Given the description of an element on the screen output the (x, y) to click on. 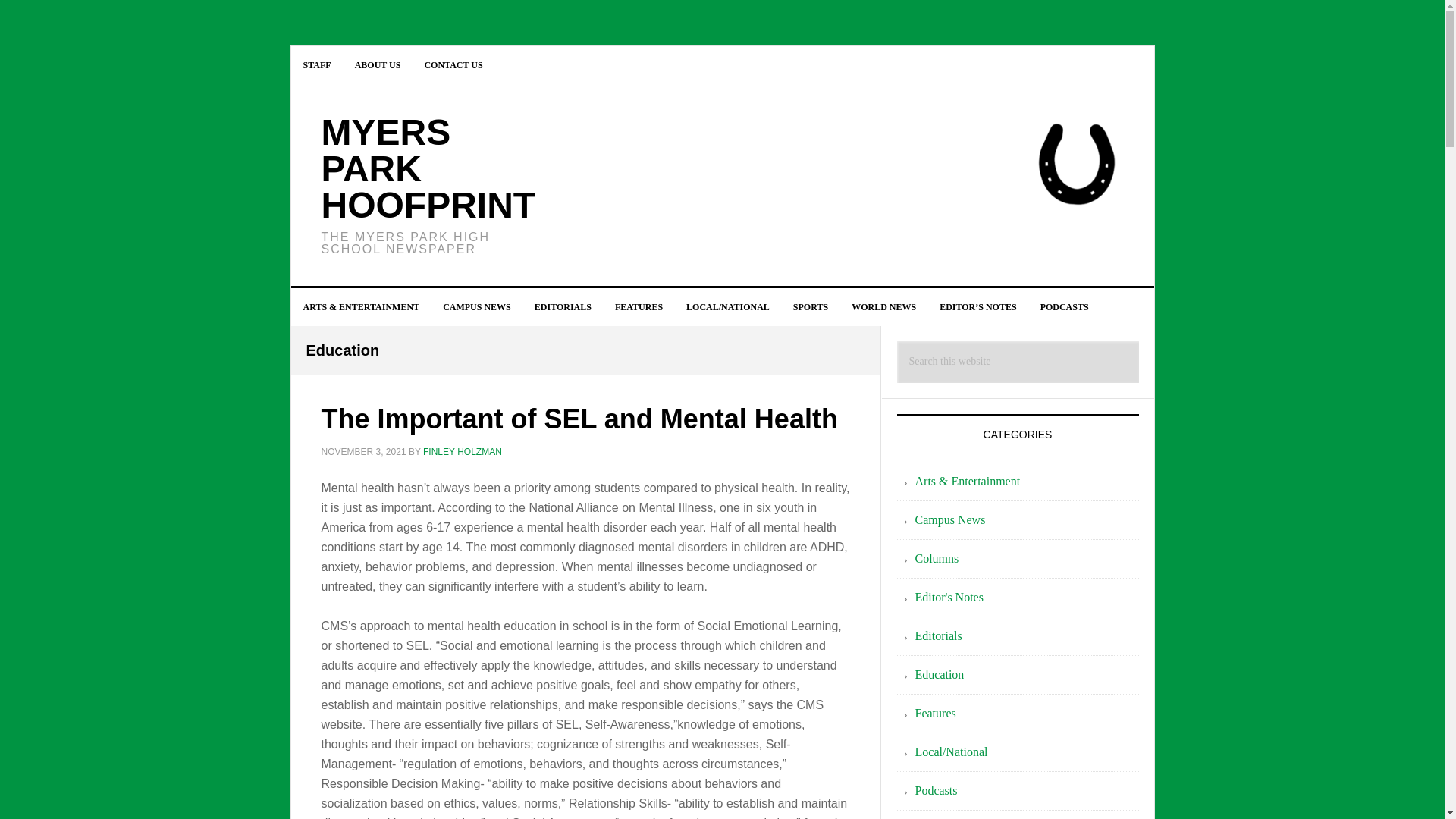
Columns (936, 558)
WORLD NEWS (884, 306)
Campus News (949, 519)
Podcasts (935, 789)
STAFF (317, 64)
PODCASTS (1063, 306)
Editorials (937, 635)
The Important of SEL and Mental Health (579, 418)
